Given the description of an element on the screen output the (x, y) to click on. 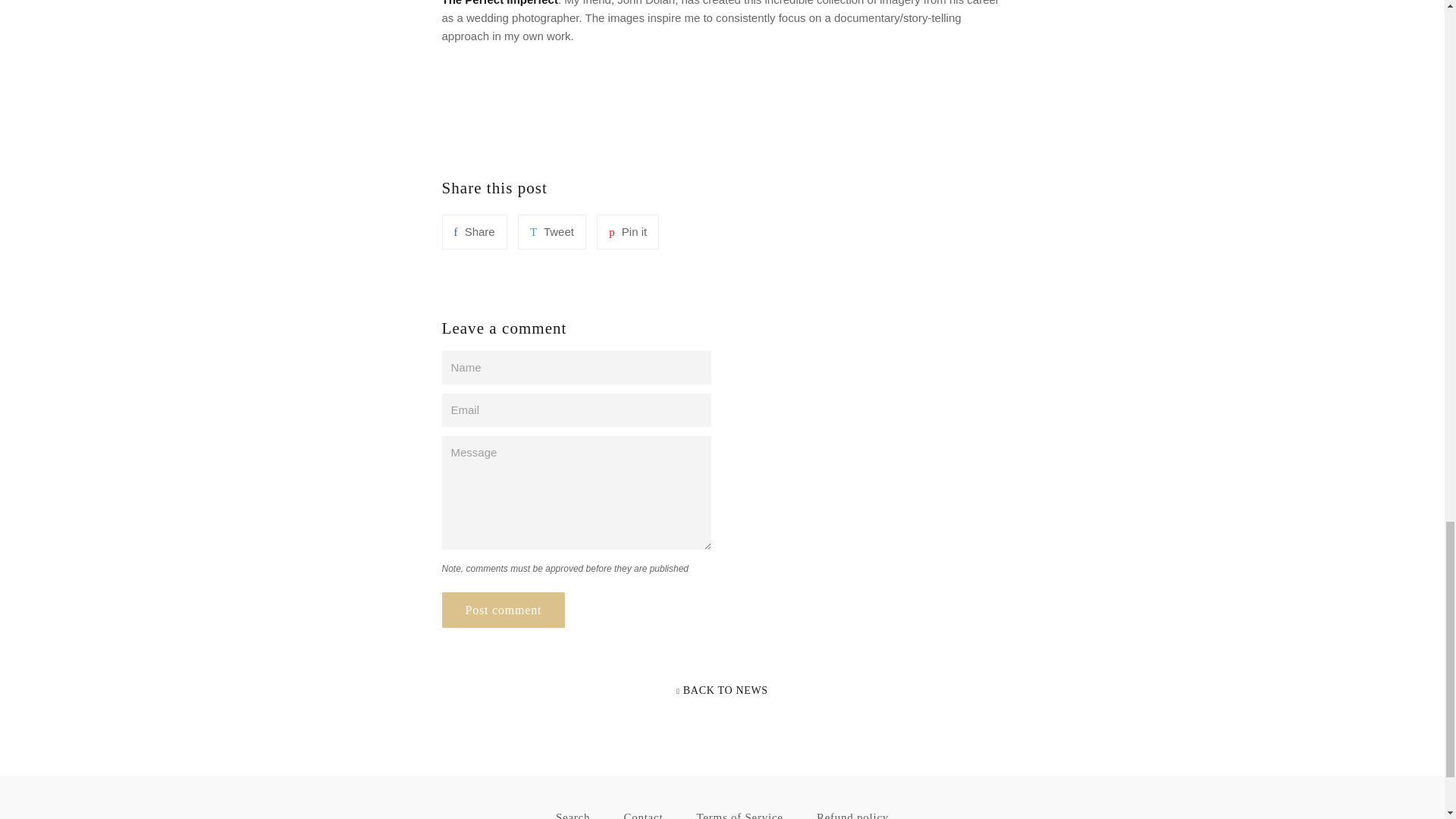
Post comment (502, 610)
Pin on Pinterest (627, 231)
Tweet on Twitter (552, 231)
Share on Facebook (473, 231)
